Given the description of an element on the screen output the (x, y) to click on. 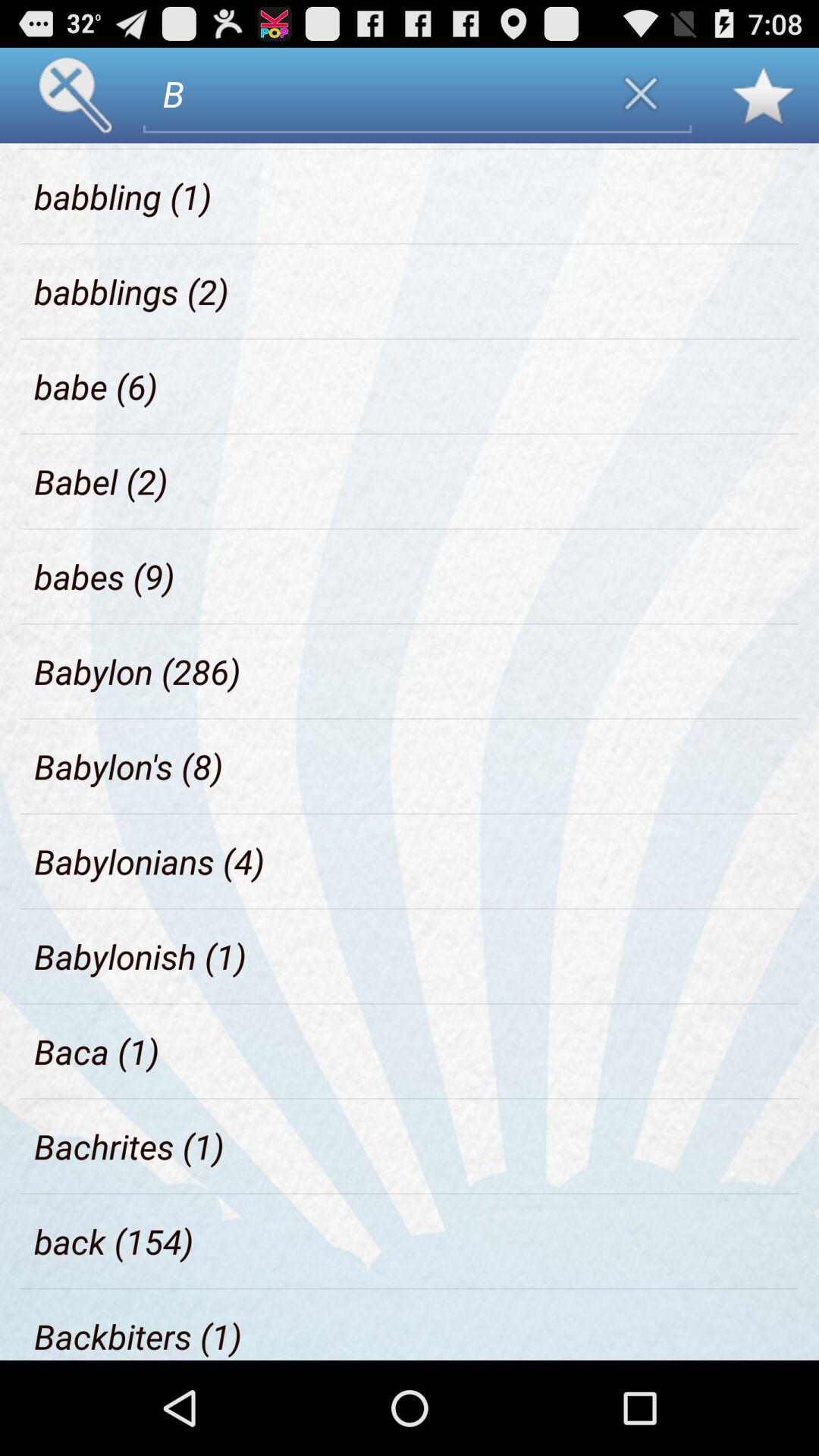
open the back (154) icon (113, 1241)
